Given the description of an element on the screen output the (x, y) to click on. 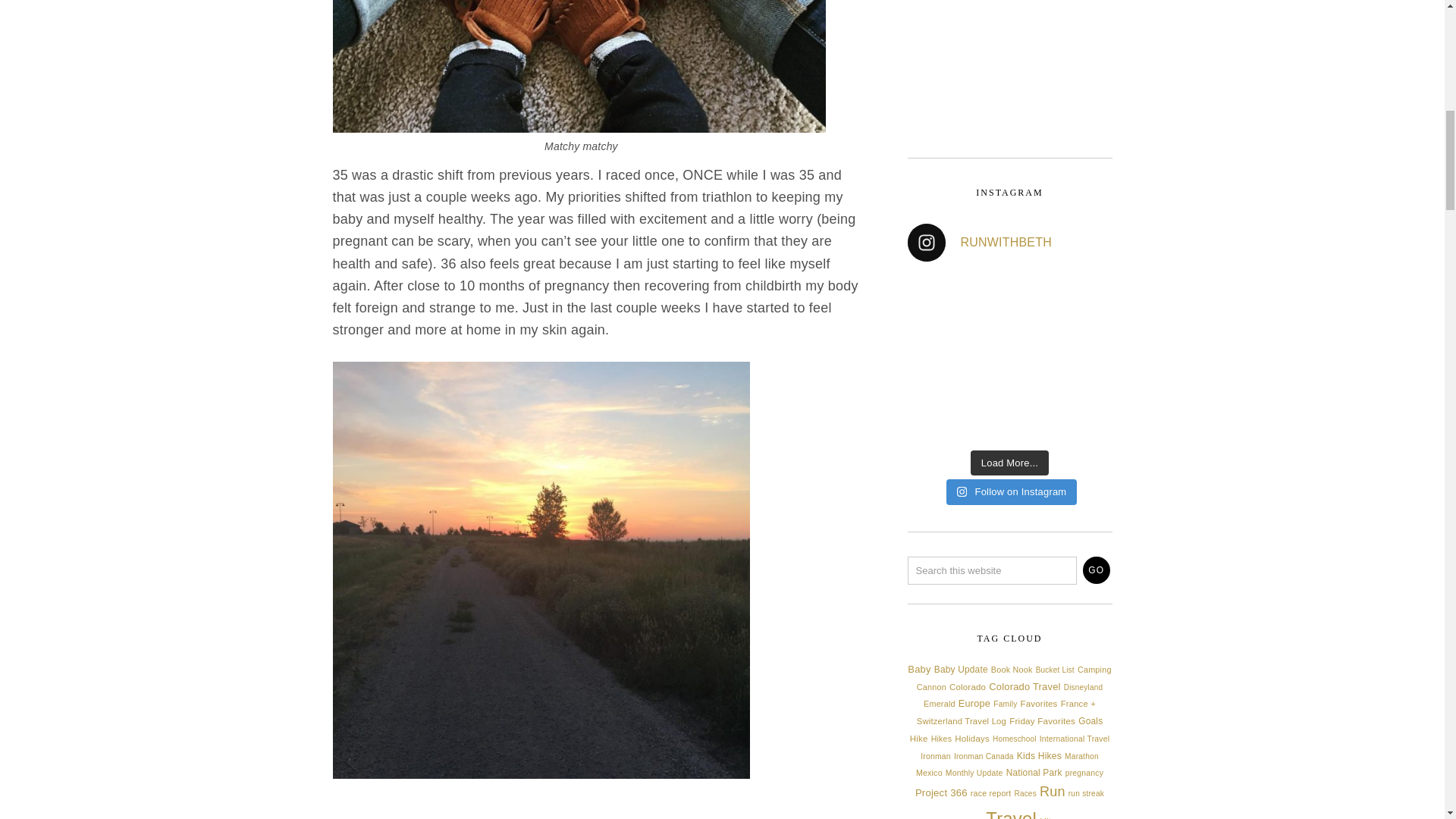
8 topics (1094, 669)
8 topics (1011, 669)
13 topics (961, 669)
8 topics (931, 686)
18 topics (918, 668)
GO (1096, 569)
RUNWITHBETH (1009, 242)
GO (1096, 569)
4 topics (1054, 669)
